Given the description of an element on the screen output the (x, y) to click on. 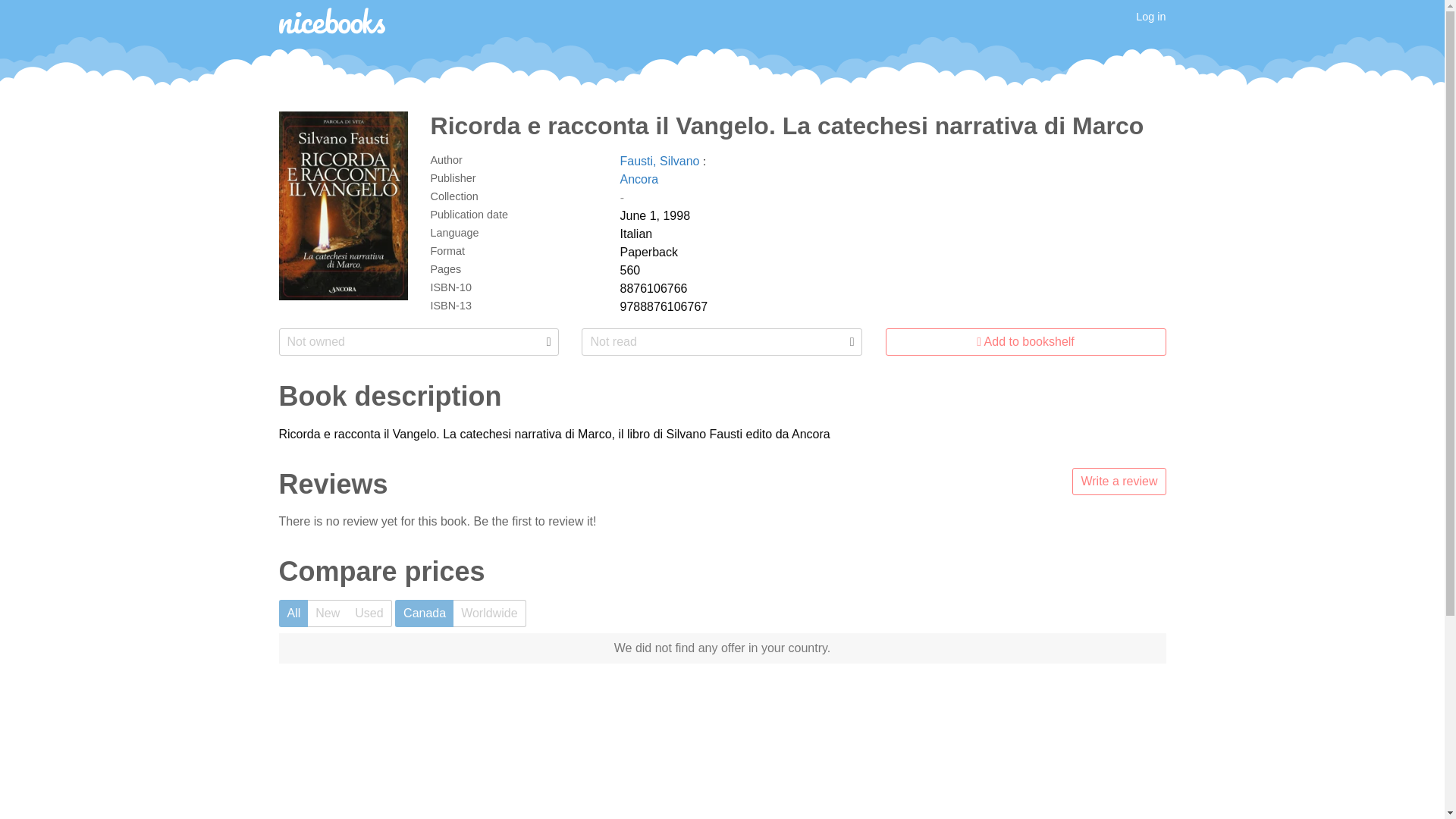
Worldwide (488, 613)
Log in (1150, 16)
Canada (423, 613)
All (293, 613)
New (327, 613)
Used (369, 613)
Add to bookshelf (1025, 341)
Ancora (639, 178)
Not owned (419, 341)
Fausti, Silvano (661, 160)
Write a review (1118, 481)
Not read (720, 341)
